Given the description of an element on the screen output the (x, y) to click on. 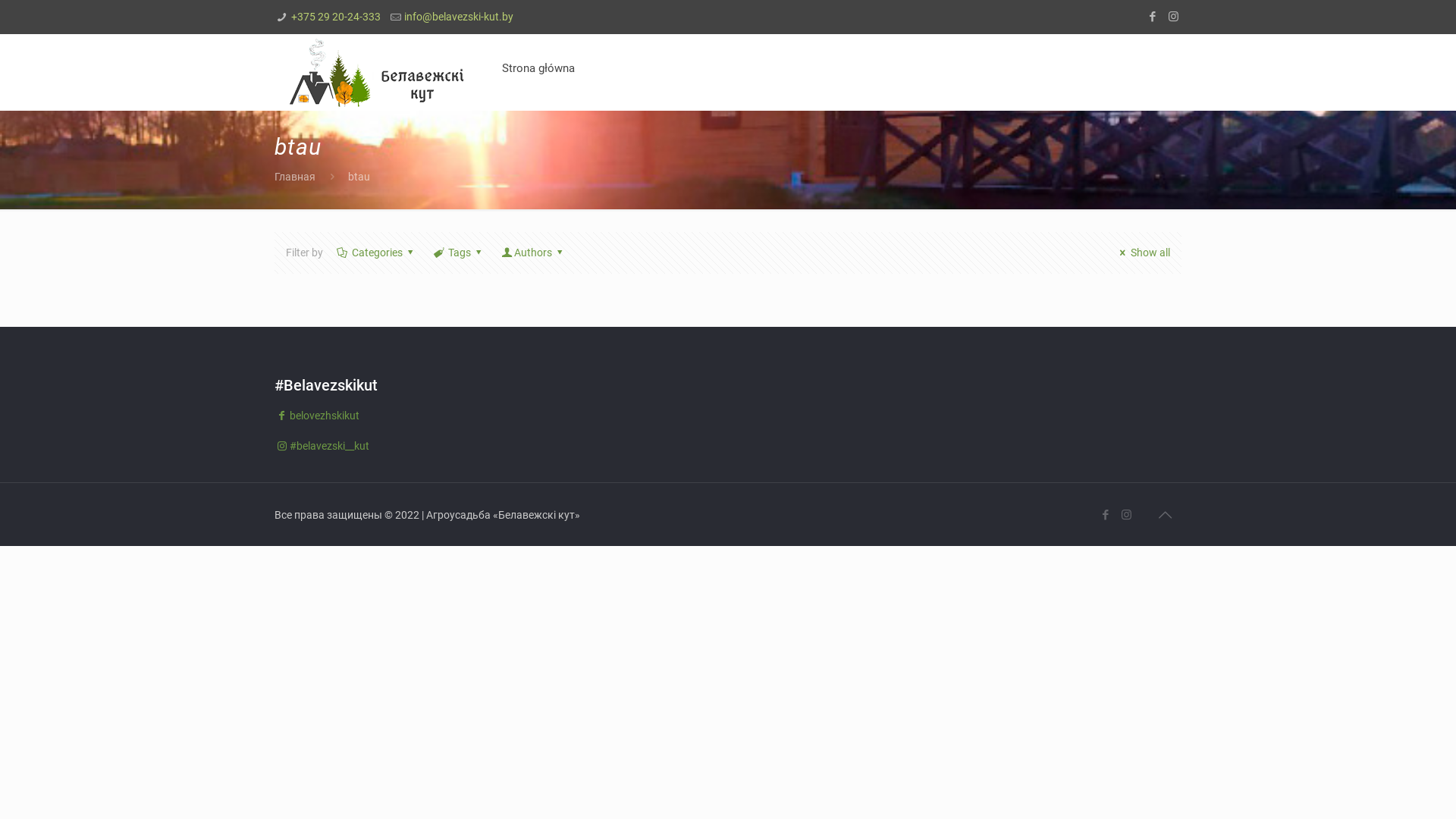
info@belavezski-kut.by Element type: text (458, 16)
#belavezski__kut Element type: text (321, 445)
Categories Element type: text (376, 252)
Instagram Element type: hover (1126, 514)
Show all Element type: text (1142, 252)
belovezhskikut Element type: text (316, 415)
Tags Element type: text (458, 252)
Facebook Element type: hover (1153, 16)
+375 29 20-24-333 Element type: text (335, 16)
Authors Element type: text (533, 252)
Instagram Element type: hover (1173, 16)
Facebook Element type: hover (1105, 514)
